Given the description of an element on the screen output the (x, y) to click on. 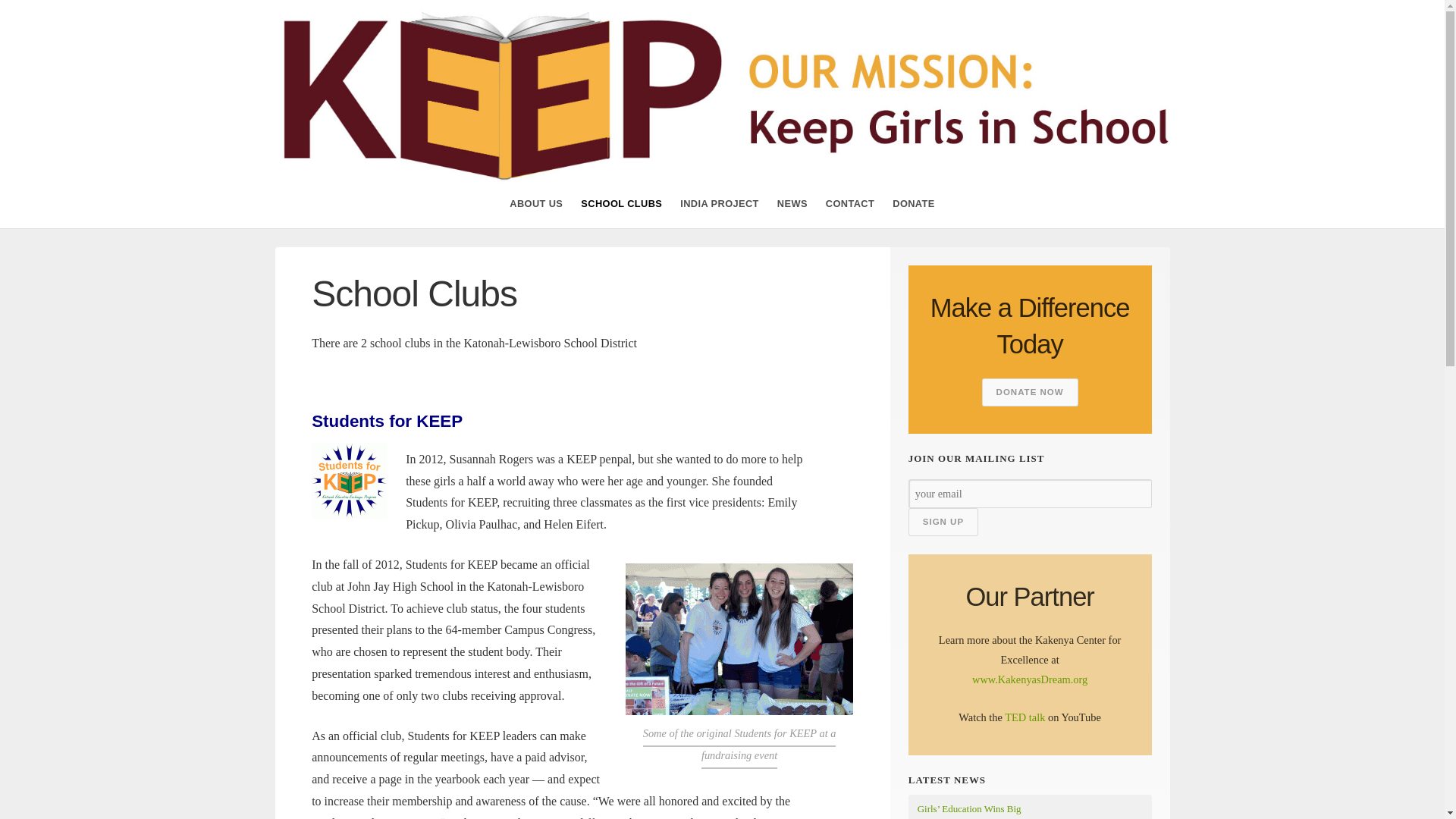
INDIA PROJECT (718, 203)
DONATE (913, 203)
Sign up (943, 521)
www.KakenyasDream.org (1029, 679)
NEWS (792, 203)
Sign up (943, 521)
ABOUT US (535, 203)
SCHOOL CLUBS (621, 203)
CONTACT (850, 203)
Students for KEEP (349, 480)
